Given the description of an element on the screen output the (x, y) to click on. 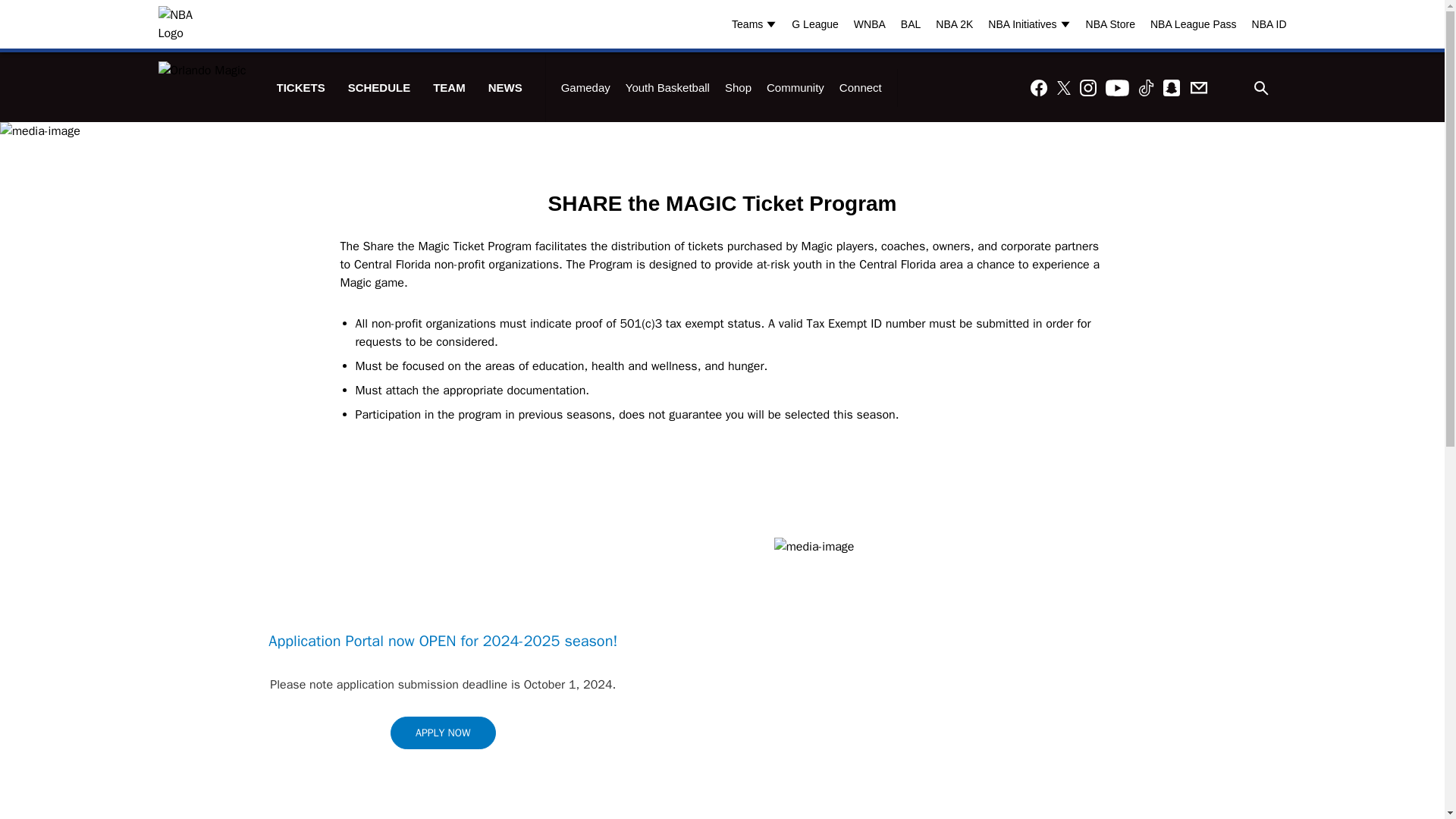
Home (201, 87)
WNBA (869, 24)
NBA Initiatives (1033, 24)
Teams (759, 24)
BAL (910, 24)
NBA 2K (954, 24)
G League (815, 24)
